Given the description of an element on the screen output the (x, y) to click on. 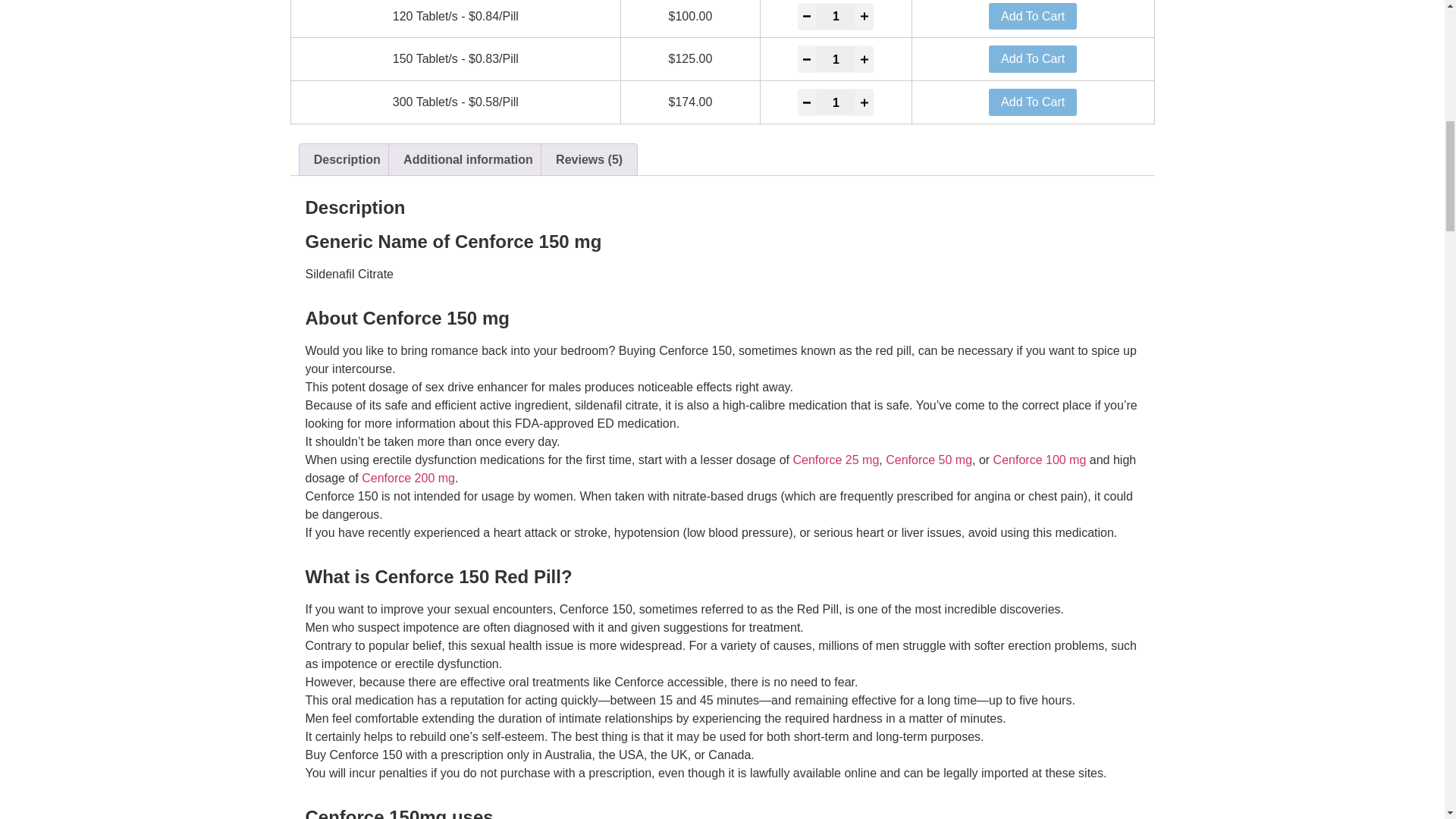
1 (835, 59)
1 (835, 16)
1 (835, 101)
